Given the description of an element on the screen output the (x, y) to click on. 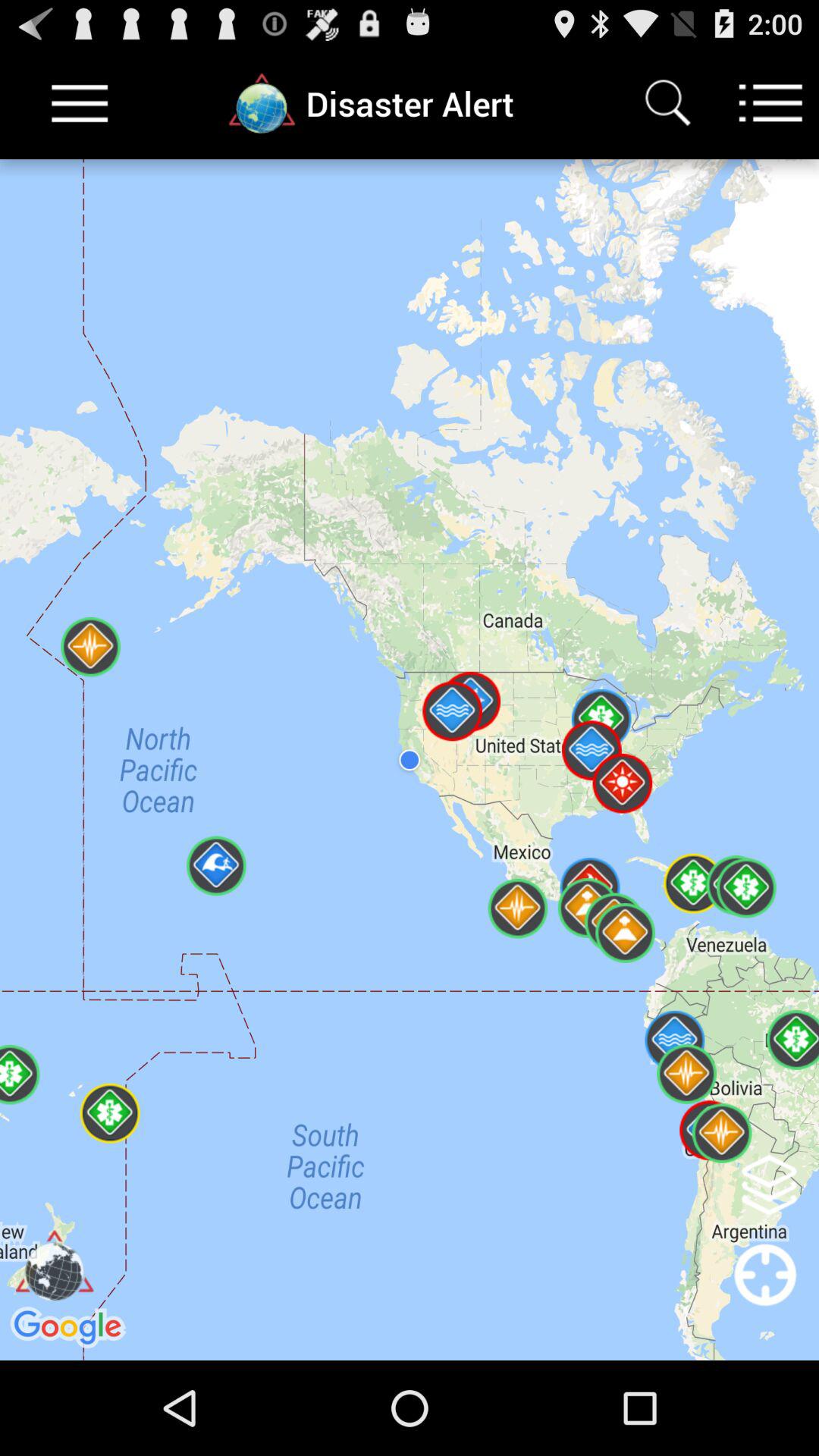
view drop down menu (79, 103)
